Given the description of an element on the screen output the (x, y) to click on. 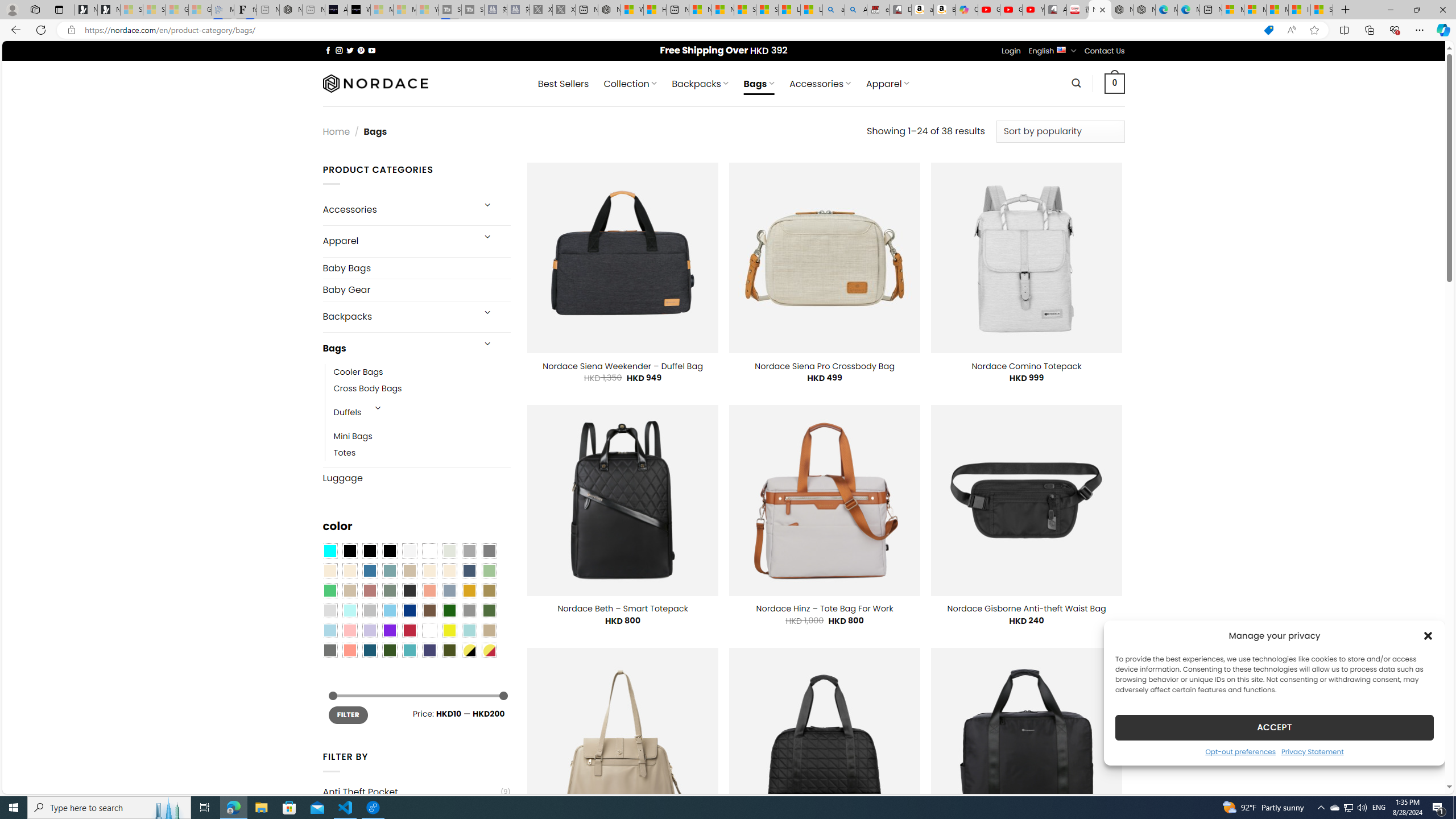
New tab - Sleeping (313, 9)
Follow on Facebook (327, 49)
Home (335, 131)
Light Taupe (349, 590)
Accessories (397, 209)
Baby Bags (416, 268)
Gloom - YouTube (1010, 9)
Nordace Gisborne Anti-theft Waist Bag (1026, 608)
Contact Us (1104, 50)
Nordace Comino Totepack (1026, 365)
